Given the description of an element on the screen output the (x, y) to click on. 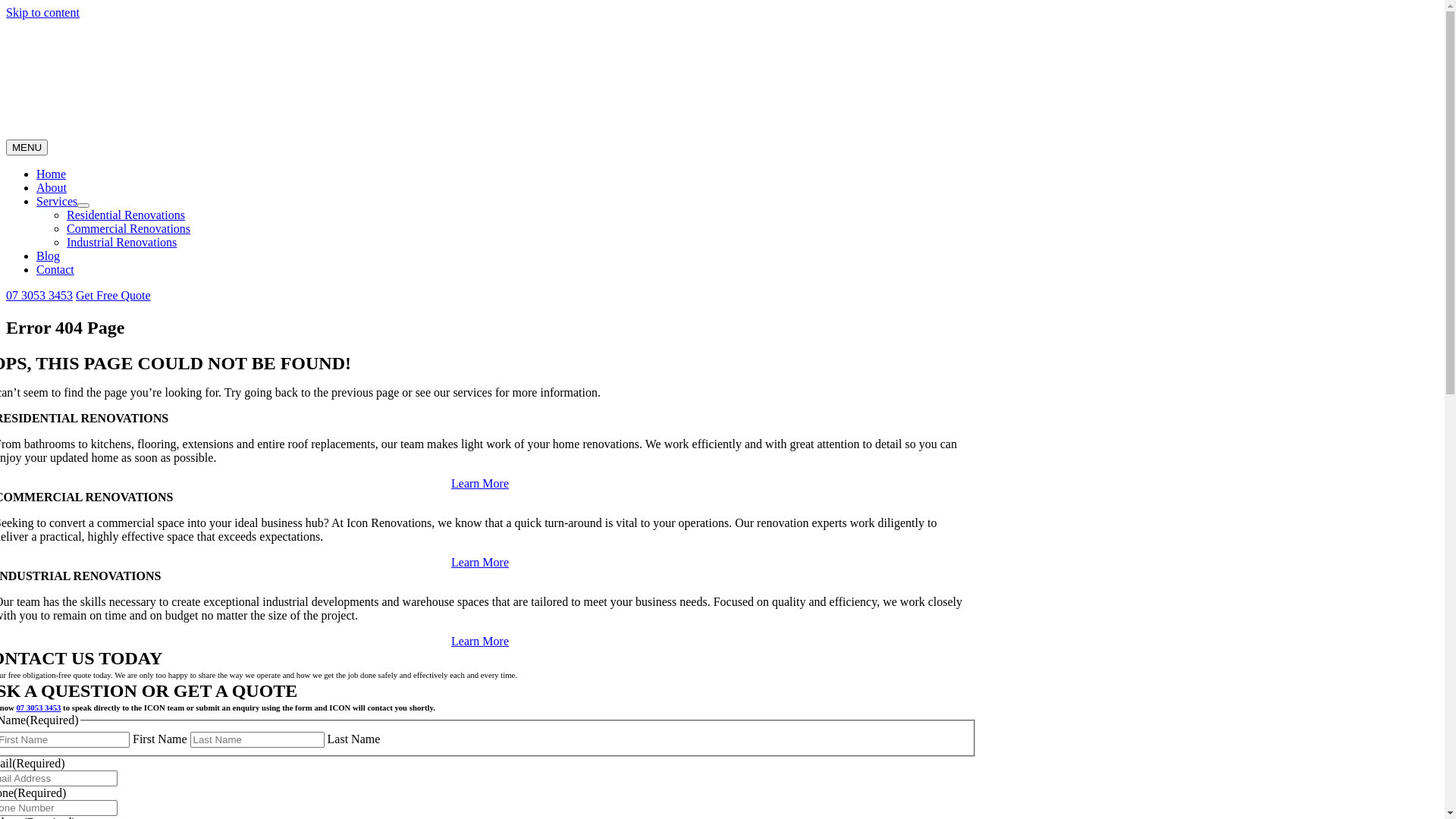
Blog Element type: text (47, 255)
Residential Renovations Element type: text (125, 214)
Contact Element type: text (55, 269)
Services Element type: text (56, 200)
Learn More Element type: text (479, 561)
Learn More Element type: text (479, 482)
Learn More Element type: text (479, 640)
07 3053 3453 Element type: text (37, 707)
About Element type: text (51, 187)
Industrial Renovations Element type: text (121, 241)
MENU Element type: text (26, 147)
Your Guide To Safe Asbestos Removals In Queensland 1 Element type: hover (195, 77)
Get Free Quote Element type: text (112, 294)
Home Element type: text (50, 173)
07 3053 3453 Element type: text (39, 294)
Skip to content Element type: text (42, 12)
Commercial Renovations Element type: text (128, 228)
